Given the description of an element on the screen output the (x, y) to click on. 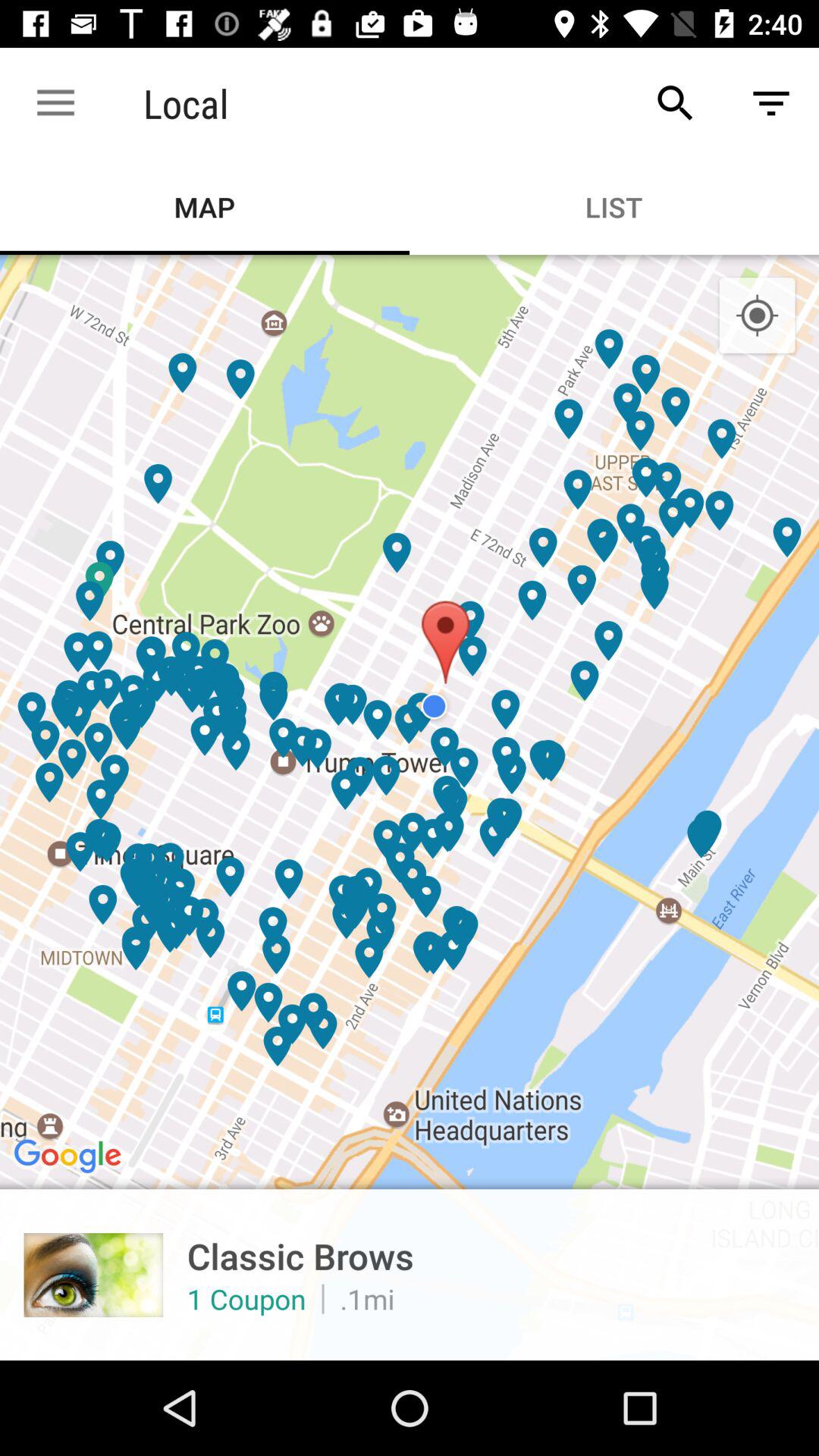
turn on the item above the list (675, 103)
